Given the description of an element on the screen output the (x, y) to click on. 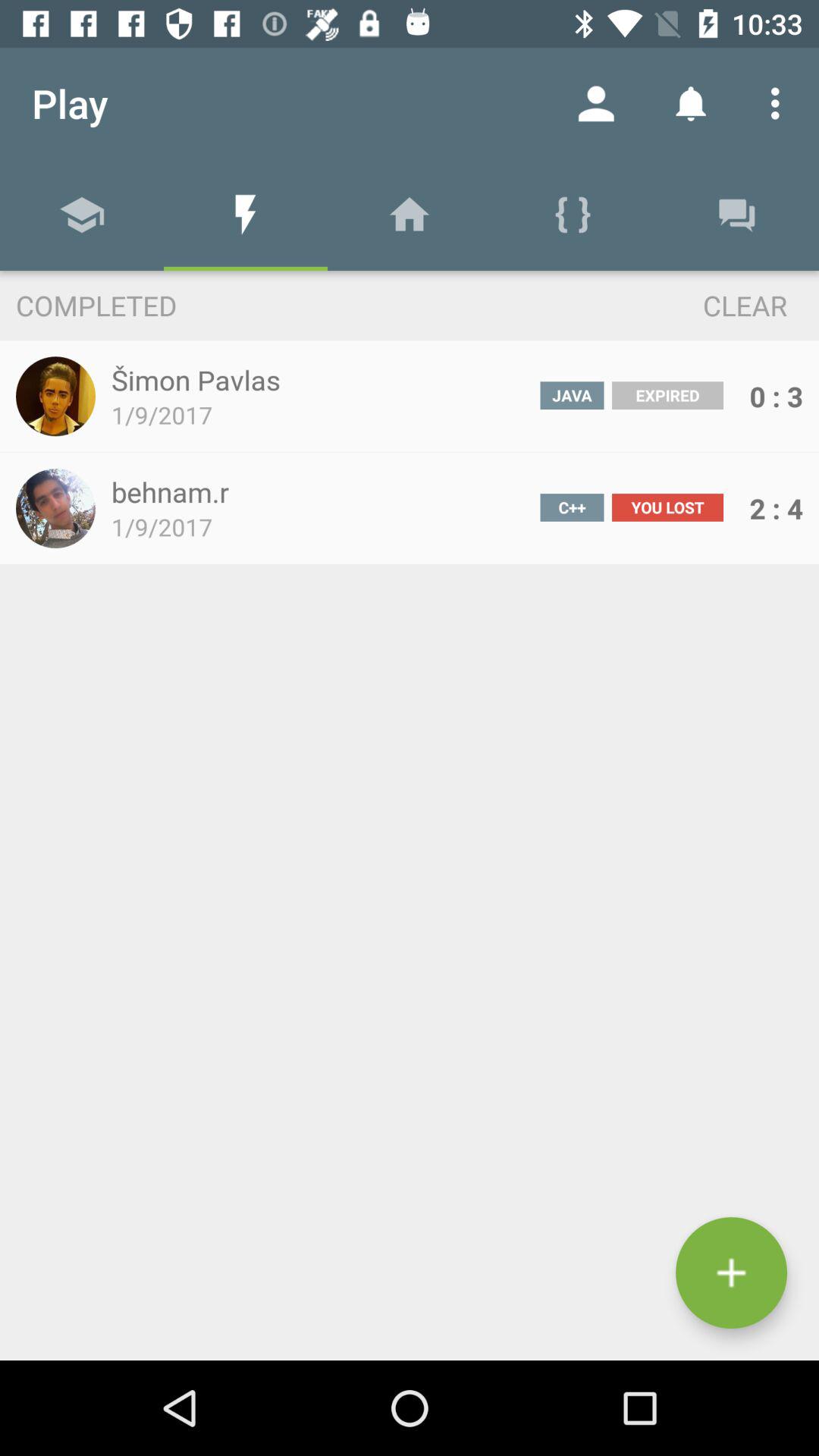
open the icon above the 0 : 3 icon (717, 305)
